Given the description of an element on the screen output the (x, y) to click on. 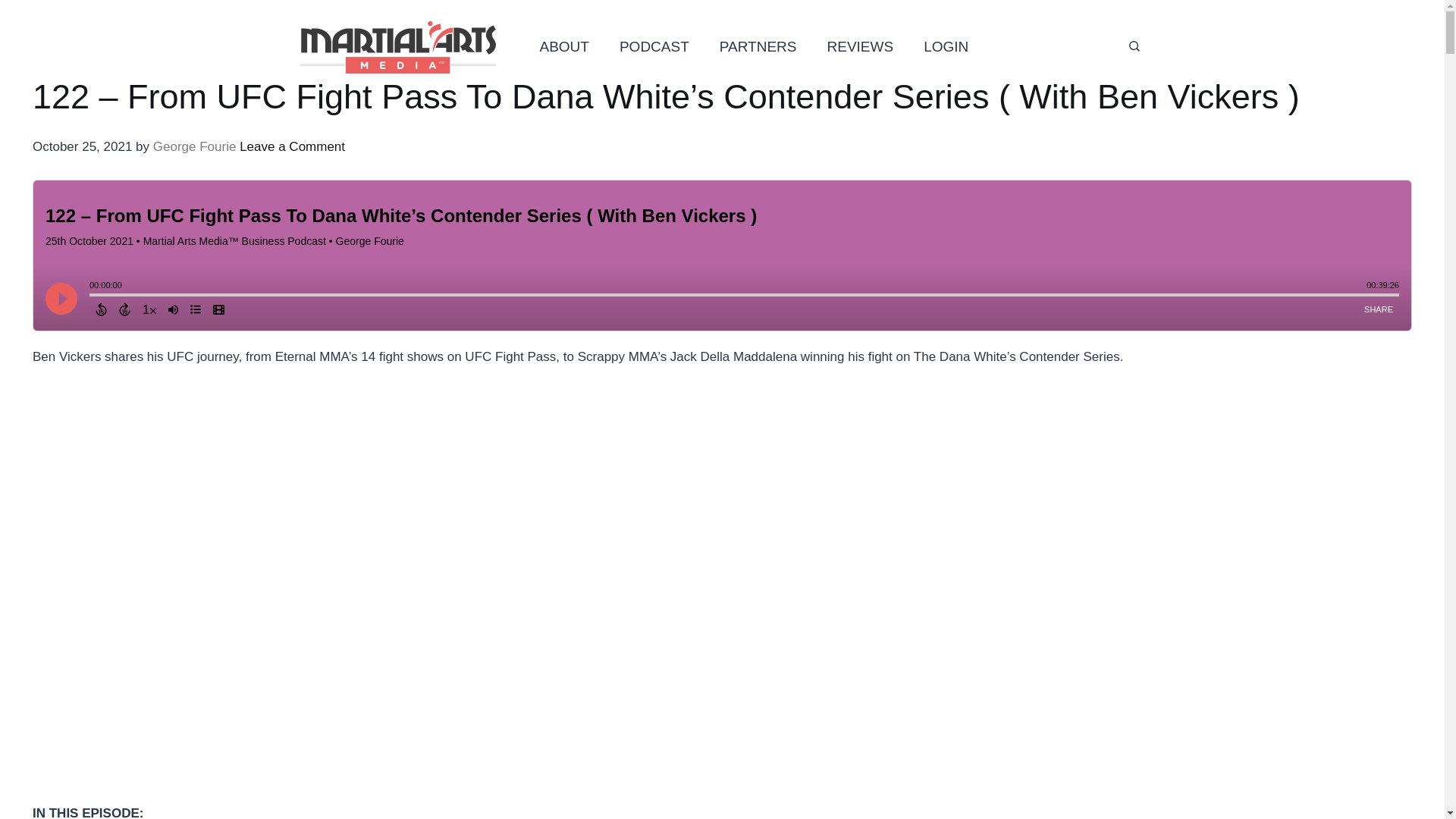
Leave a Comment (292, 146)
George Fourie (193, 146)
ABOUT (564, 46)
LOGIN (946, 46)
PODCAST (654, 46)
PARTNERS (758, 46)
REVIEWS (860, 46)
